Given the description of an element on the screen output the (x, y) to click on. 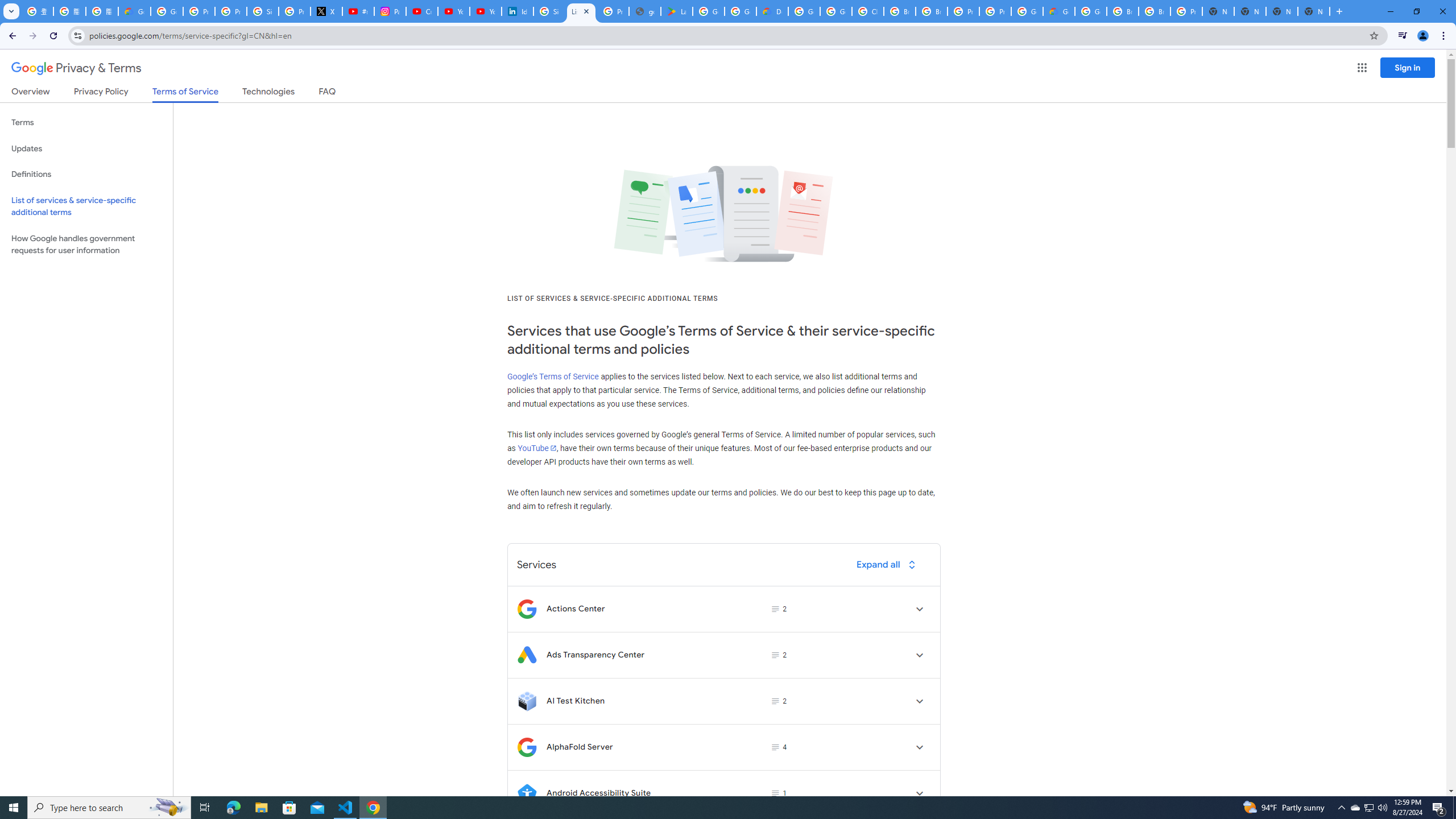
Google Cloud Estimate Summary (1059, 11)
google_privacy_policy_en.pdf (644, 11)
Definitions (86, 174)
Google Cloud Platform (1091, 11)
Logo for Android Accessibility Suite (526, 792)
Logo for Actions Center (526, 608)
#nbabasketballhighlights - YouTube (358, 11)
Logo for AlphaFold Server (526, 746)
How Google handles government requests for user information (86, 244)
